Given the description of an element on the screen output the (x, y) to click on. 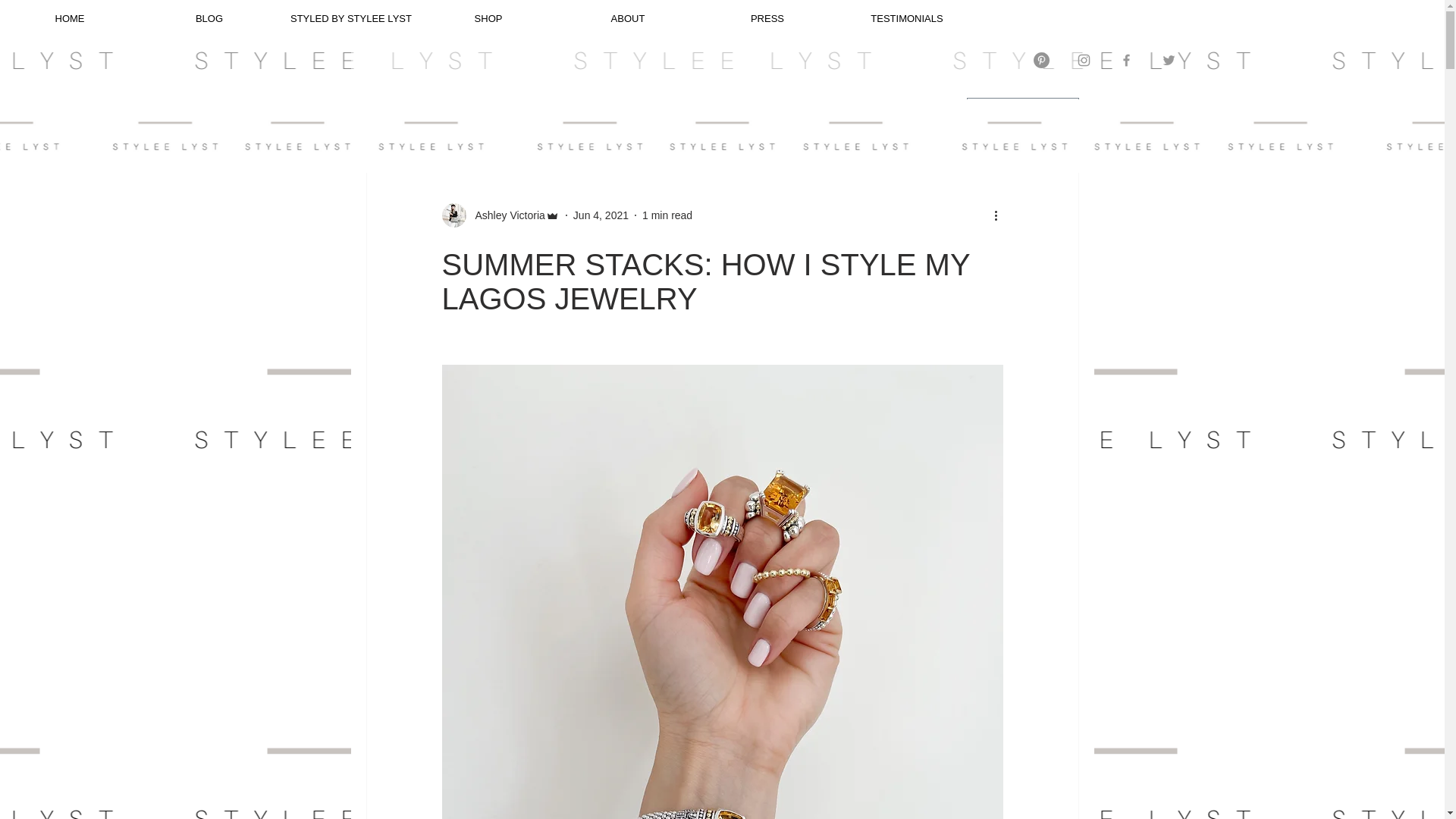
All Posts (385, 110)
PRESS (767, 18)
BEAUTY (596, 110)
BLOG (209, 18)
SHOP (488, 18)
WELLNESS (521, 110)
TESTIMONIALS (906, 18)
Site Search (1120, 17)
TRAVEL (662, 110)
1 min read (667, 215)
ABOUT (627, 18)
Ashley Victoria  (504, 215)
STYLE (450, 110)
STYLED BY STYLEE LYST (349, 18)
Jun 4, 2021 (600, 215)
